Given the description of an element on the screen output the (x, y) to click on. 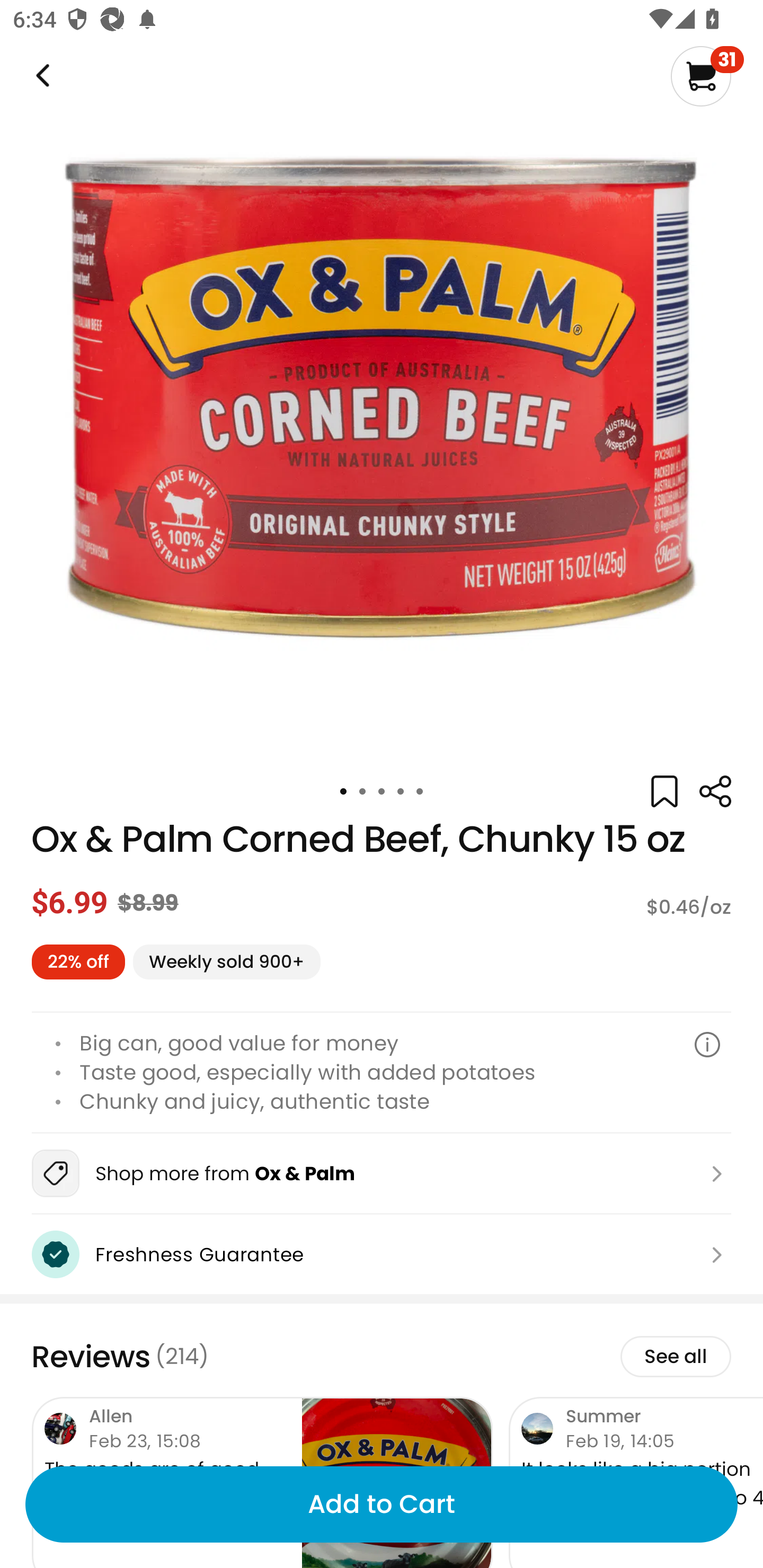
Weee! (41, 75)
31 (706, 75)
Weee! (714, 791)
Shop more from Ox & Palm Weee! (381, 1173)
Freshness Guarantee (381, 1254)
Reviews (214) See all (381, 1356)
Add to Cart (381, 1504)
Add to Cart (381, 1504)
